Given the description of an element on the screen output the (x, y) to click on. 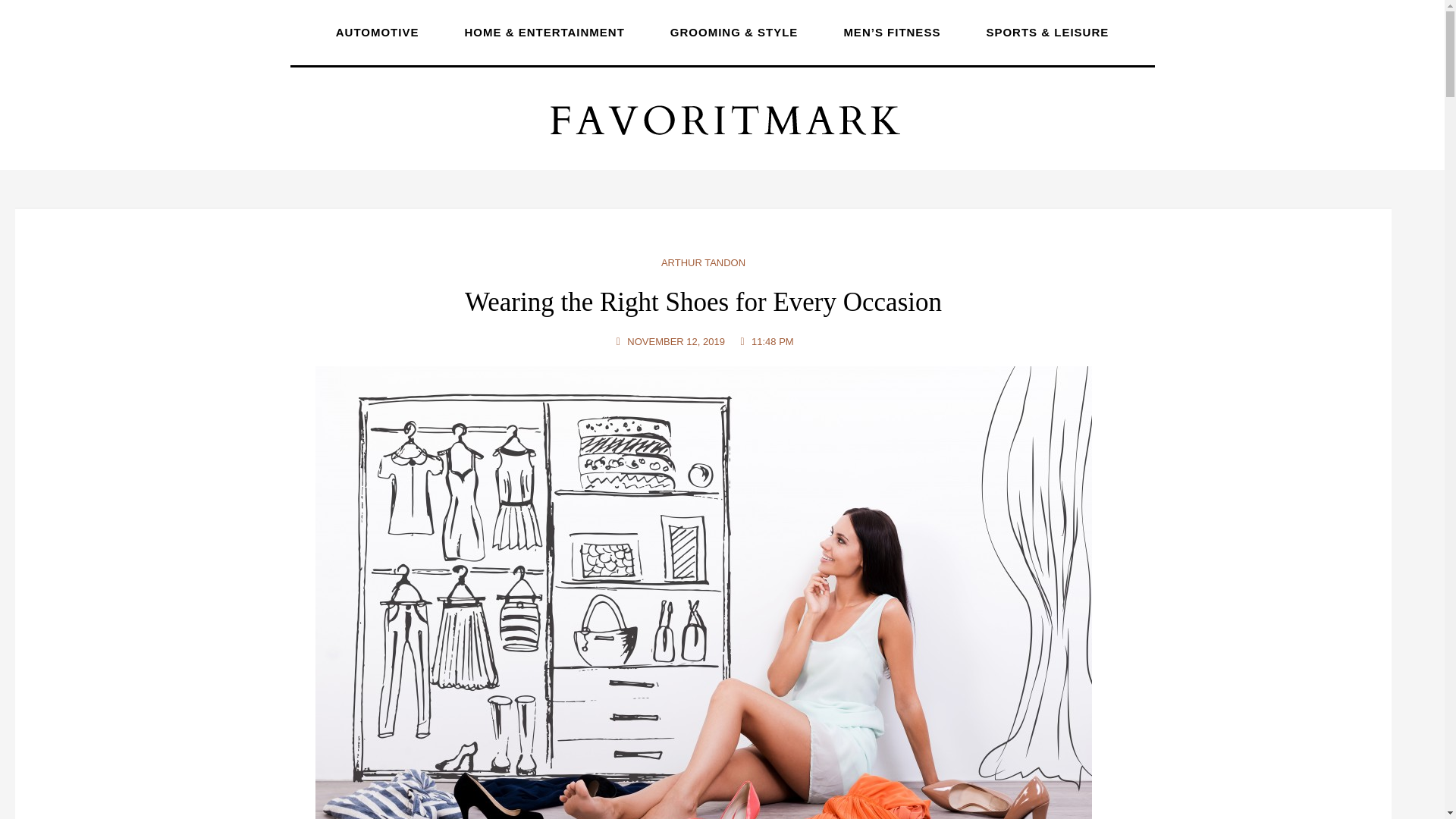
NOVEMBER 12, 2019 (668, 341)
AUTOMOTIVE (377, 32)
